Given the description of an element on the screen output the (x, y) to click on. 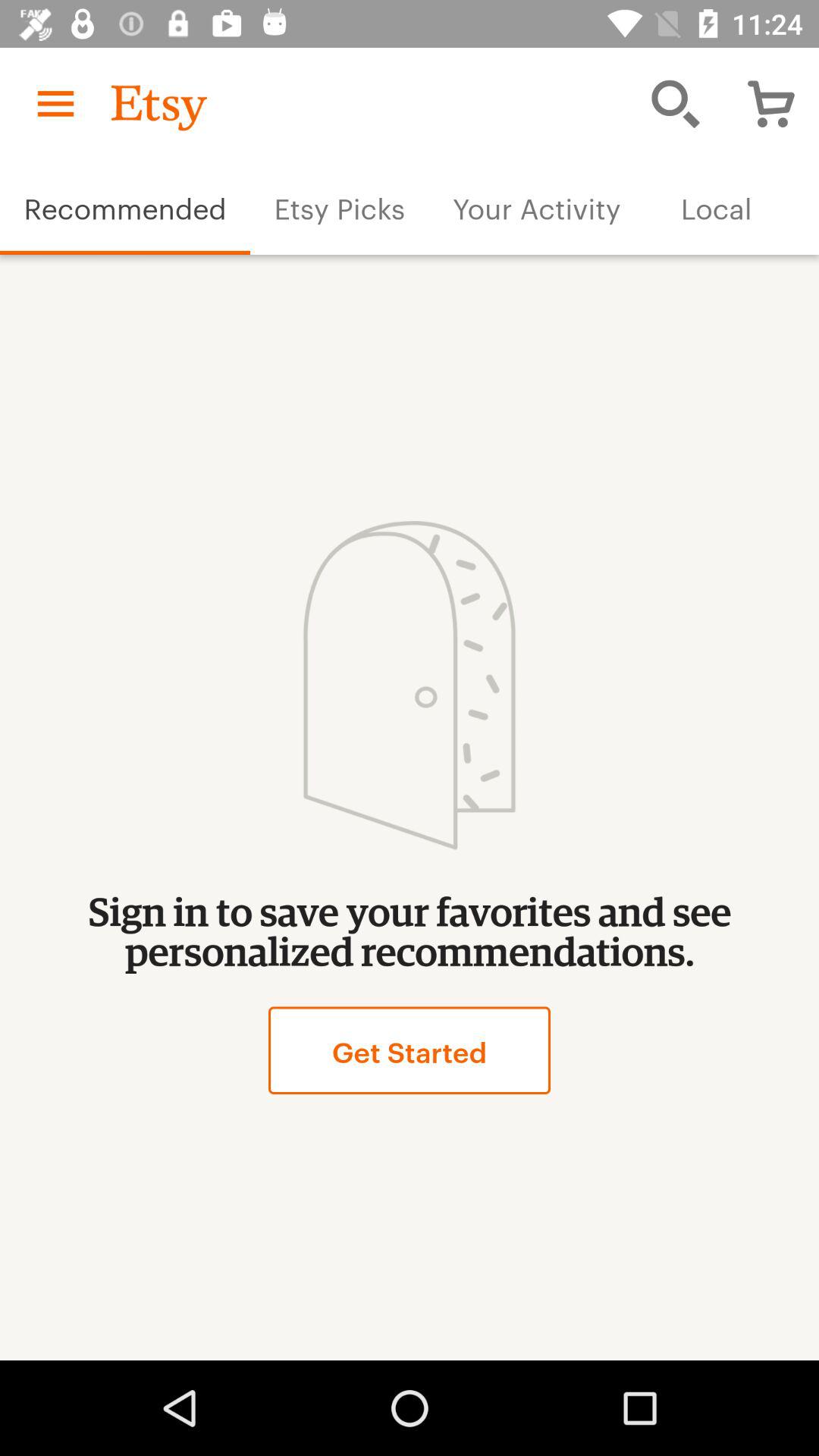
select the search icon (675, 103)
click on the open door image (408, 686)
click on the shopping cart icon (771, 103)
